Given the description of an element on the screen output the (x, y) to click on. 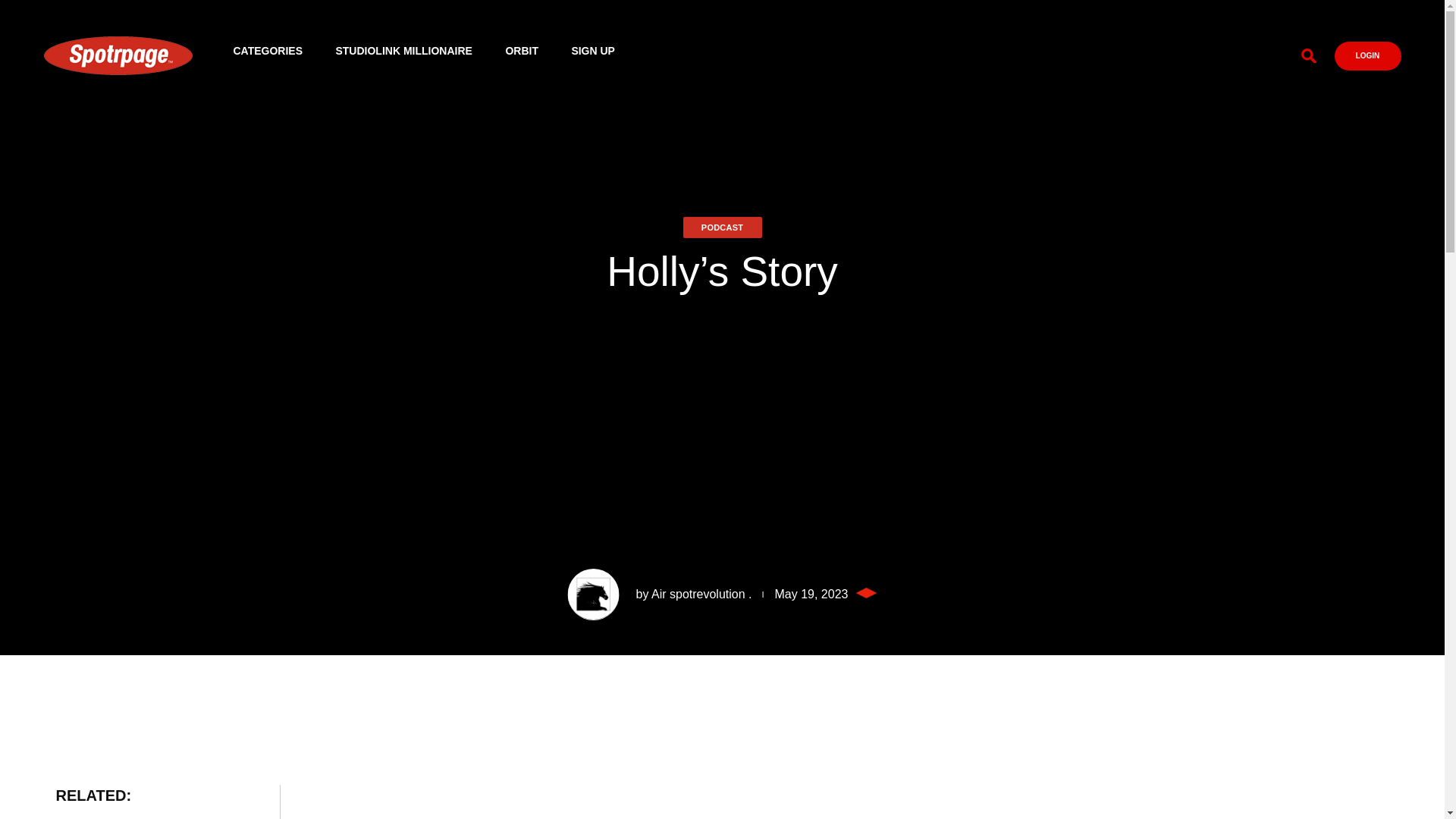
PODCAST (721, 227)
CATEGORIES (267, 49)
ORBIT (521, 49)
Air spotrevolution . (701, 594)
STUDIOLINK MILLIONAIRE (402, 49)
SIGN UP (592, 49)
LOGIN (1367, 54)
